Given the description of an element on the screen output the (x, y) to click on. 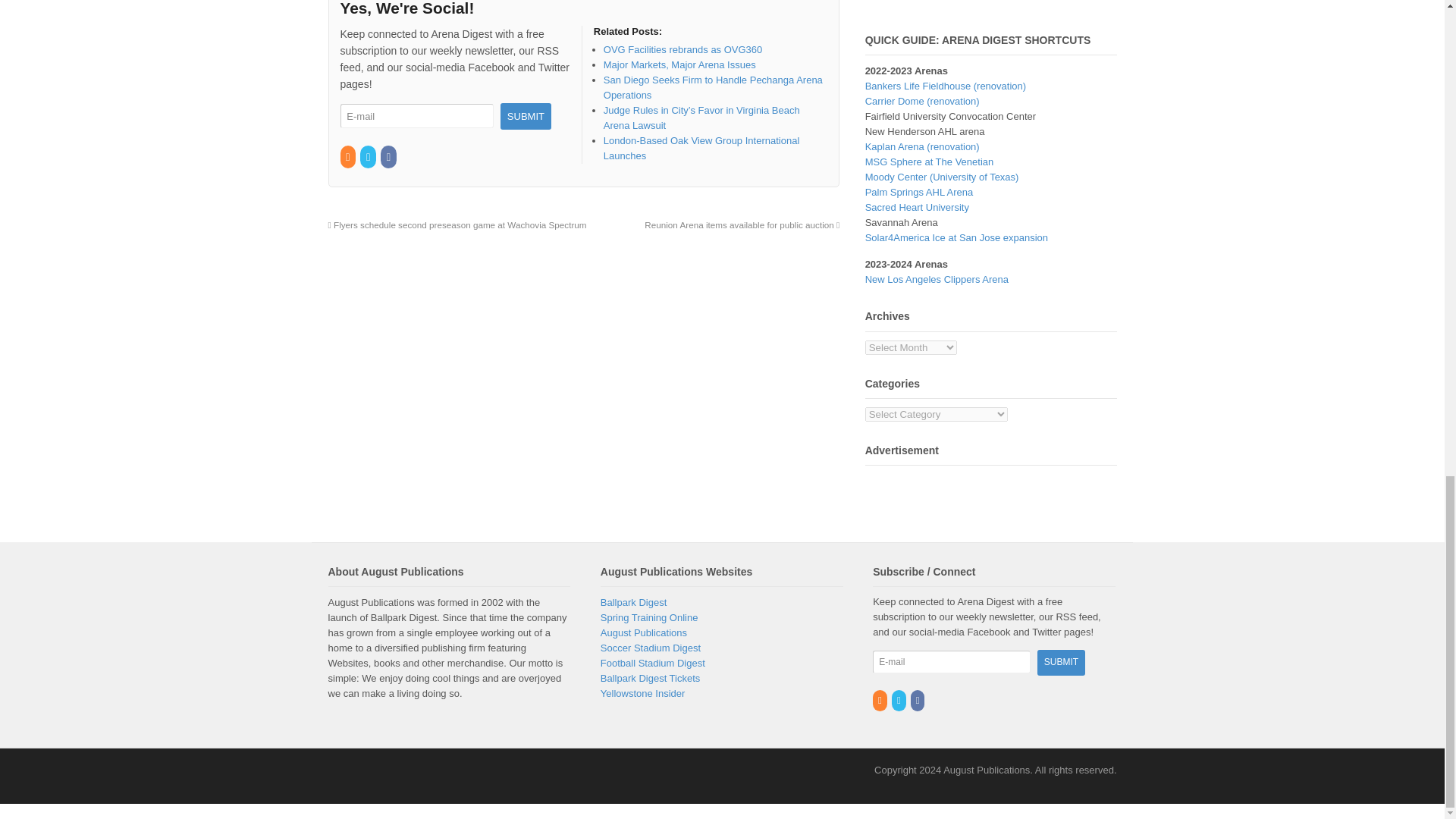
Facebook (388, 156)
E-mail (951, 661)
OVG Facilities rebrands as OVG360 (683, 49)
Submit (525, 116)
E-mail (416, 116)
Submit (1060, 662)
Twitter (368, 156)
Major Markets, Major Arena Issues (679, 64)
RSS (347, 156)
